Given the description of an element on the screen output the (x, y) to click on. 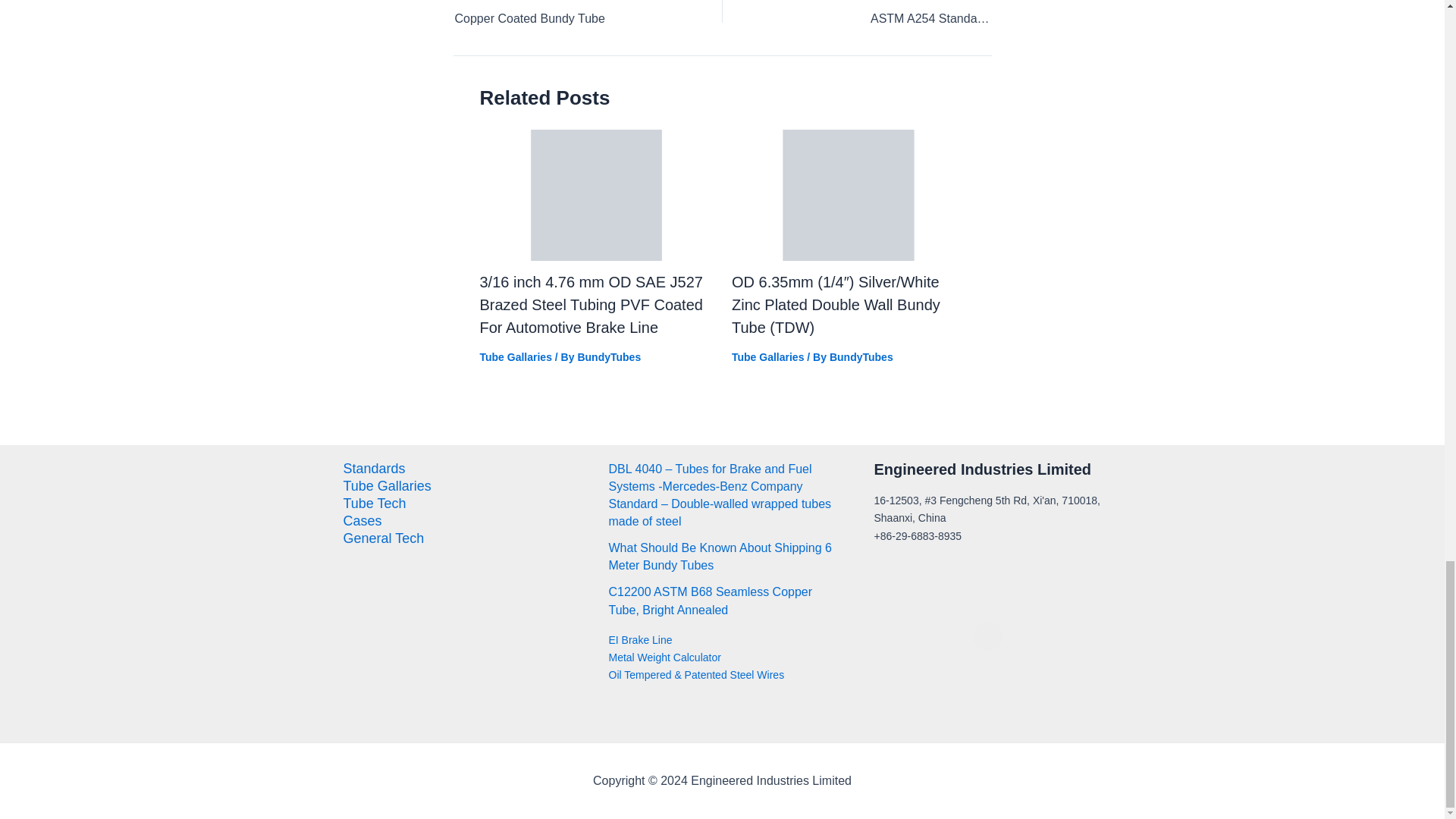
View all posts by BundyTubes (608, 357)
View all posts by BundyTubes (861, 357)
Copper Coated Bundy Tube (561, 14)
